Given the description of an element on the screen output the (x, y) to click on. 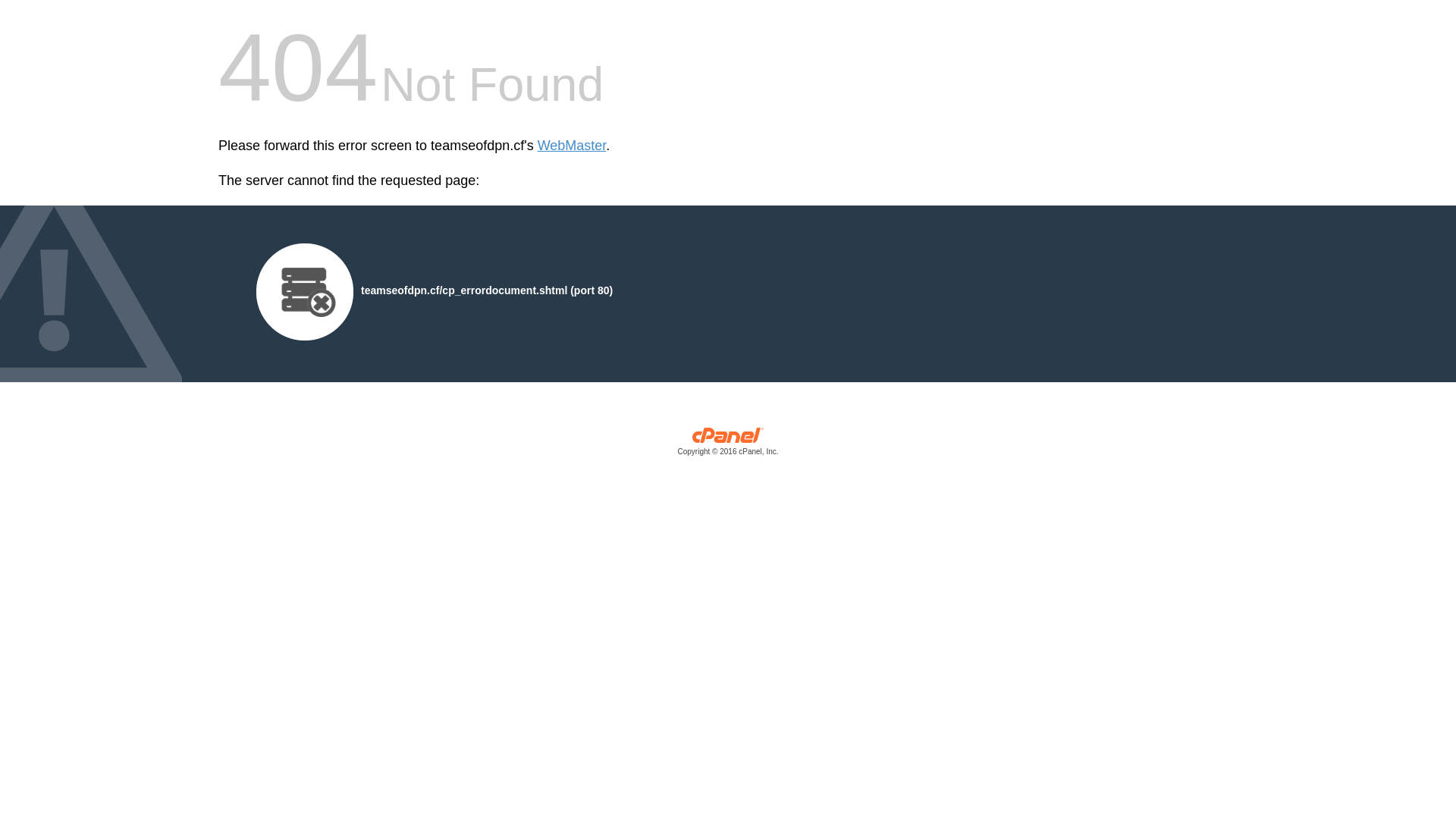
WebMaster Element type: text (571, 145)
